Given the description of an element on the screen output the (x, y) to click on. 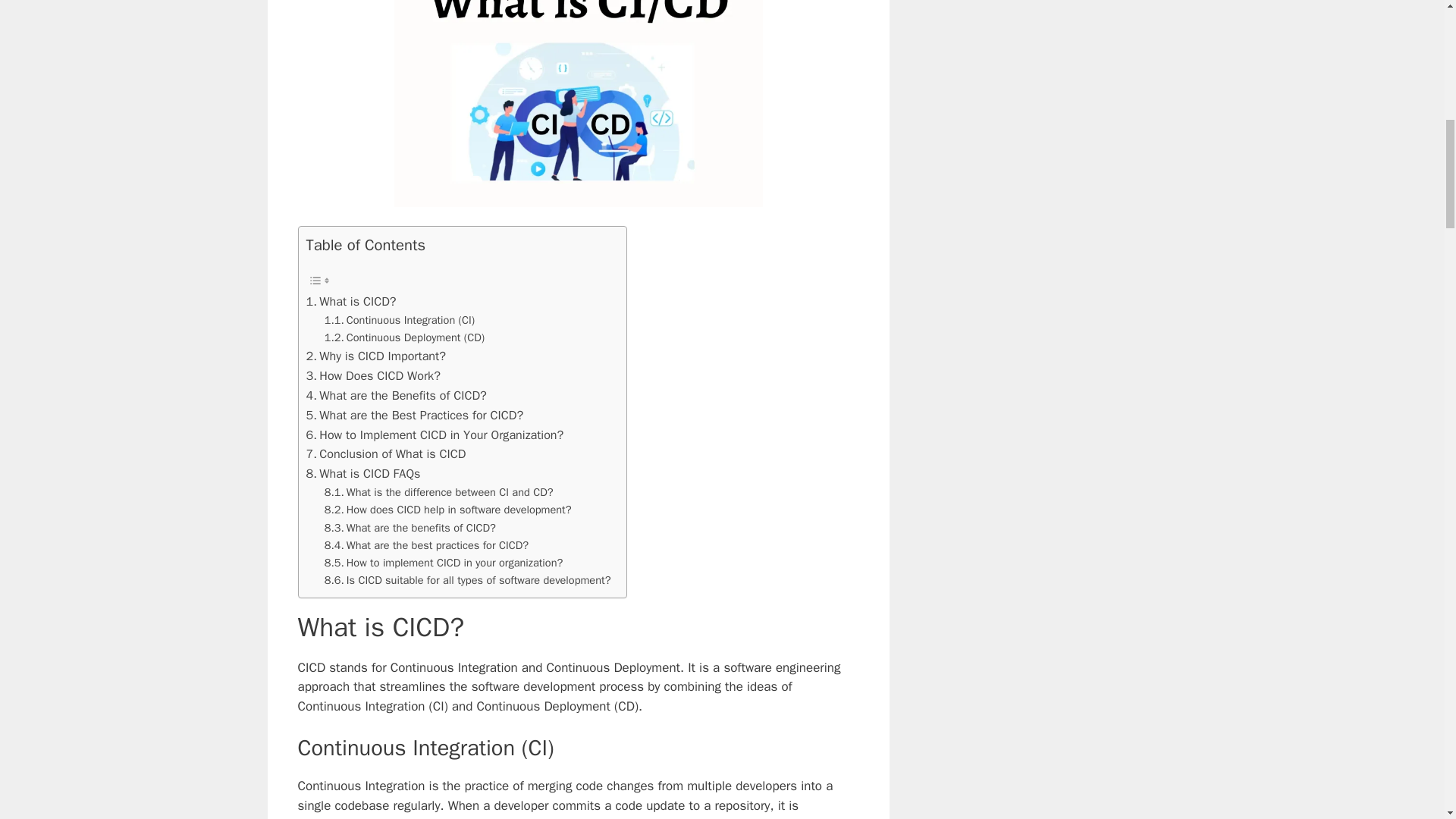
What is CICD FAQs (362, 474)
What are the benefits of CICD? (410, 528)
How to Implement CICD in Your Organization? (434, 435)
What is the difference between CI and CD? (438, 492)
Why is CICD Important? (375, 356)
Is CICD suitable for all types of software development? (467, 579)
Conclusion of What is CICD (385, 454)
What are the Best Practices for CICD? (414, 415)
How does CICD help in software development? (448, 509)
What are the best practices for CICD? (426, 545)
